Given the description of an element on the screen output the (x, y) to click on. 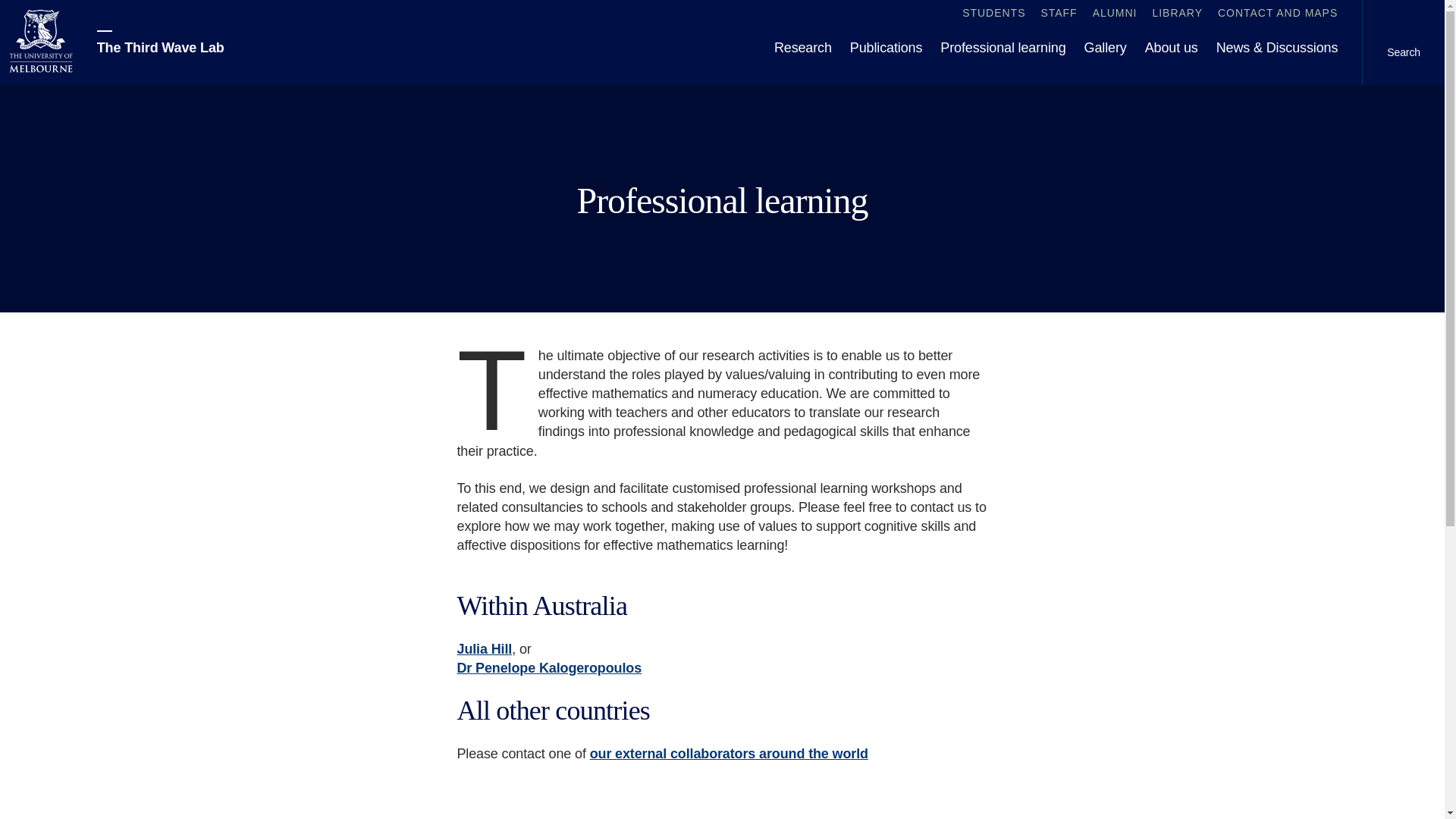
LIBRARY (1176, 13)
Research (803, 48)
Publications (886, 48)
Julia Hill (484, 648)
The Third Wave Lab (160, 42)
our external collaborators around the world (728, 753)
Dr Penelope Kalogeropoulos (549, 667)
STAFF (1059, 13)
Professional learning (1002, 48)
ALUMNI (1115, 13)
